Given the description of an element on the screen output the (x, y) to click on. 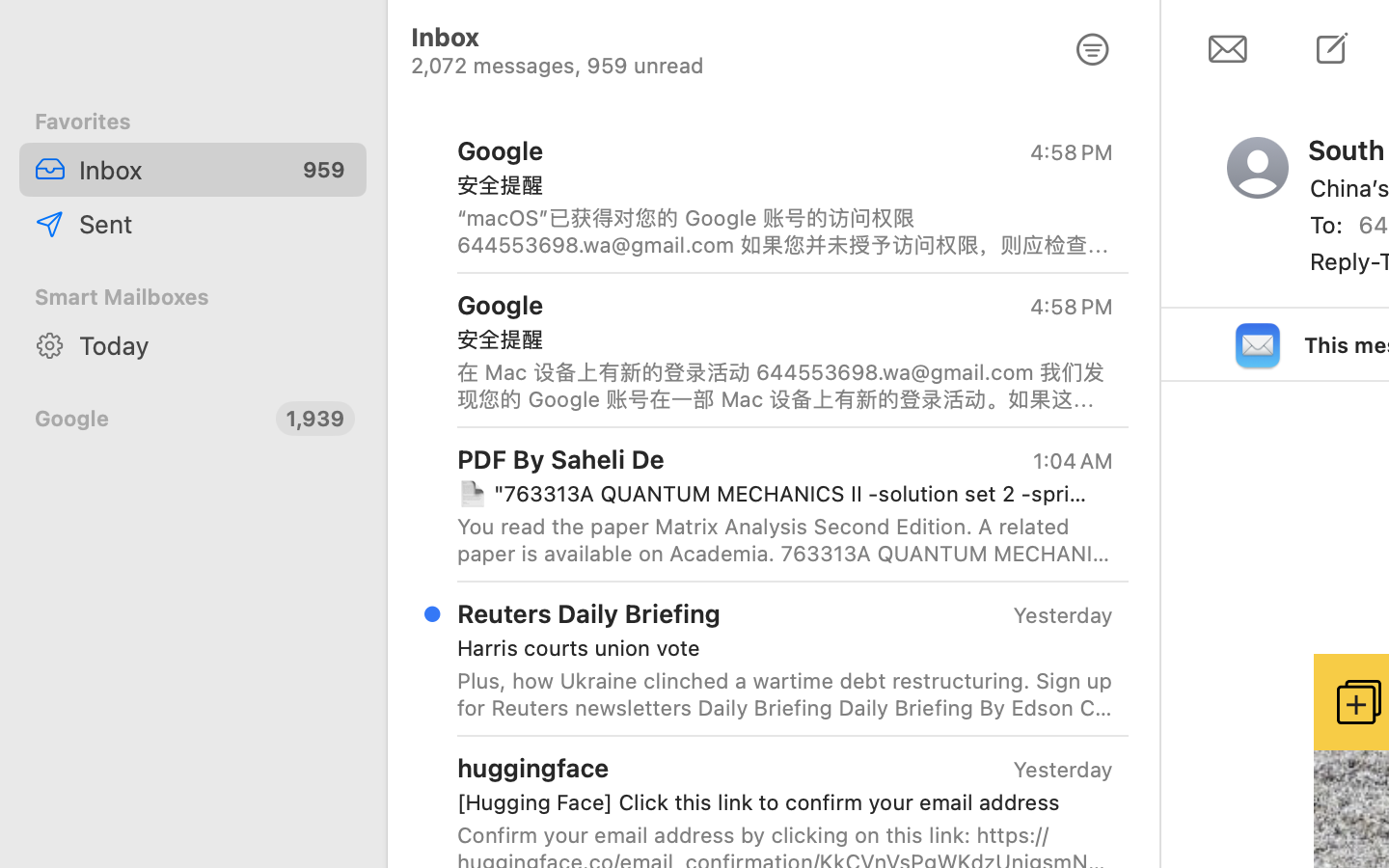
0 Element type: AXCheckBox (1092, 50)
0.0 Element type: AXValueIndicator (1147, 127)
huggingface Element type: AXStaticText (533, 767)
Harris courts union vote Element type: AXStaticText (777, 647)
1:04 AM Element type: AXStaticText (1071, 460)
